Given the description of an element on the screen output the (x, y) to click on. 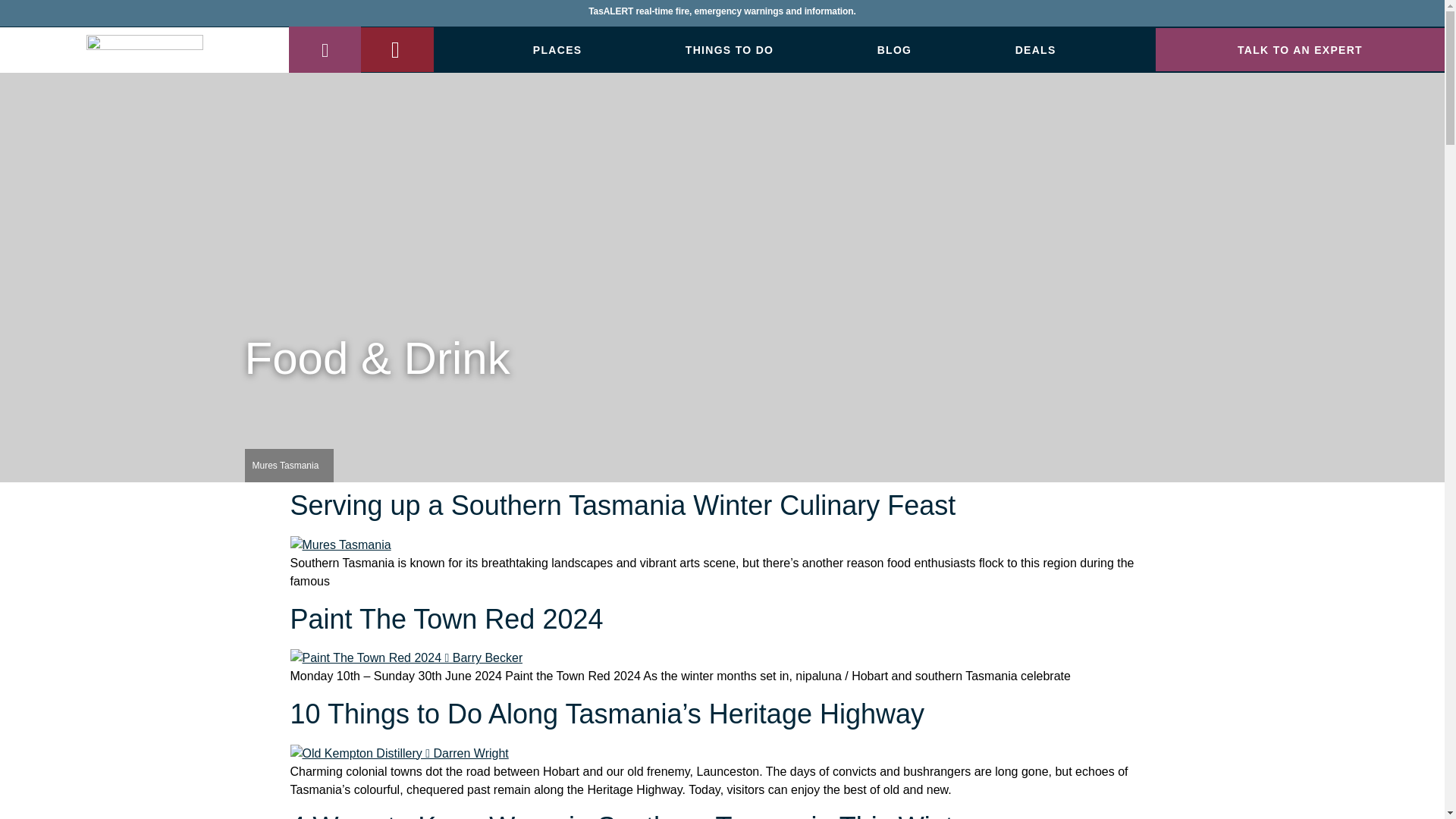
THINGS TO DO (729, 49)
TasALERT real-time fire, emergency warnings and information. (722, 16)
PLACES (557, 49)
DEALS (1035, 49)
BLOG (894, 49)
TALK TO AN EXPERT (1300, 49)
